Given the description of an element on the screen output the (x, y) to click on. 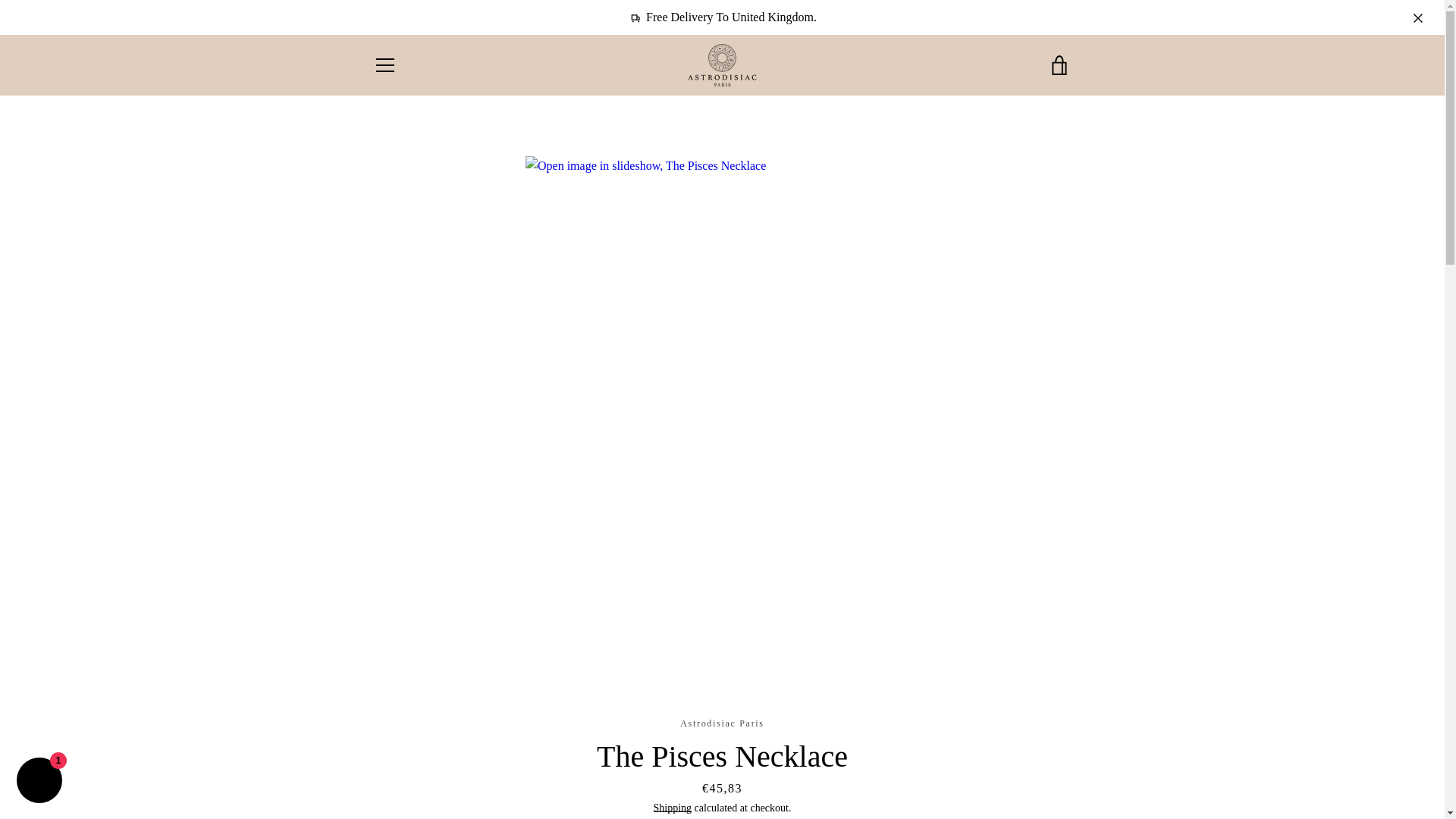
Shopify online store chat (38, 781)
MENU (384, 64)
VIEW CART (1059, 64)
Shipping (673, 808)
